Given the description of an element on the screen output the (x, y) to click on. 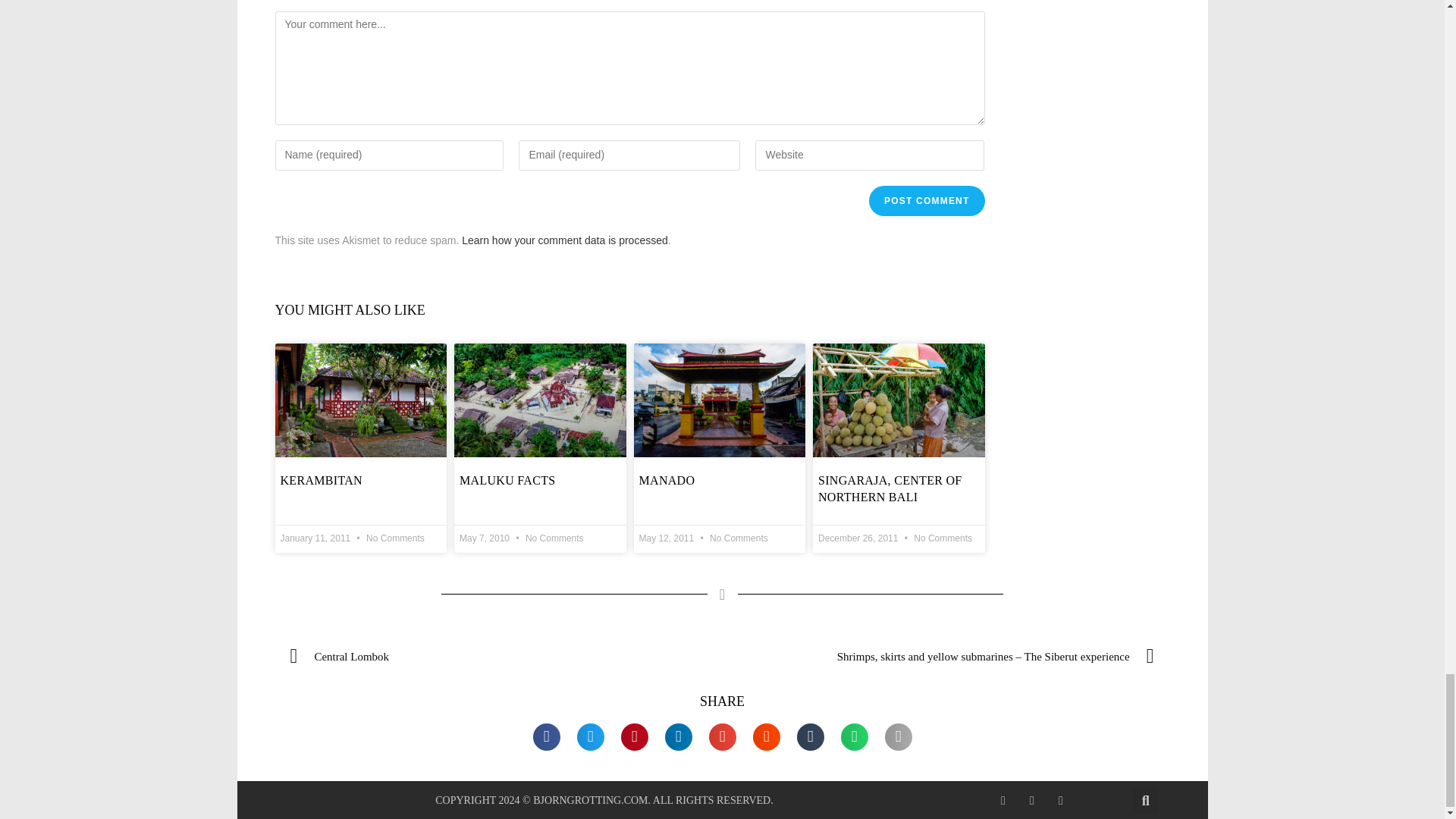
Learn how your comment data is processed (564, 240)
Post Comment (926, 200)
Post Comment (926, 200)
